Given the description of an element on the screen output the (x, y) to click on. 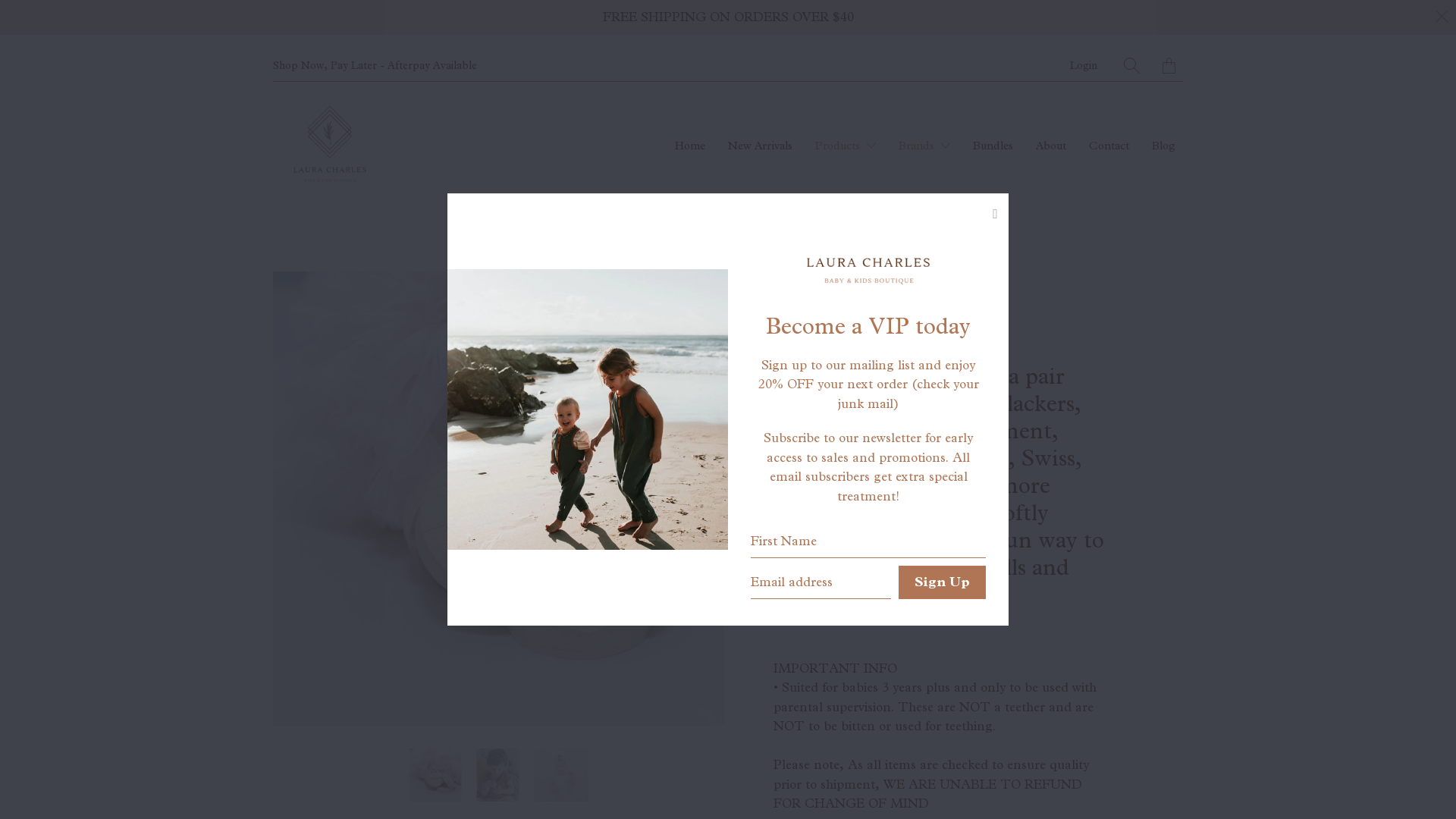
Translation missing: en.layout.general.title Element type: text (1168, 65)
Search Element type: hover (1131, 65)
Shop Now, Pay Later - Afterpay Available Element type: text (374, 65)
Brands Element type: text (924, 145)
Contact Element type: text (1108, 145)
New Arrivals Element type: text (760, 145)
Sign Up Element type: text (941, 582)
Bundles Element type: text (992, 145)
About Element type: text (1050, 145)
Blog Element type: text (1163, 145)
Login Element type: text (1083, 65)
Products Element type: text (845, 145)
Home Element type: text (689, 145)
